Given the description of an element on the screen output the (x, y) to click on. 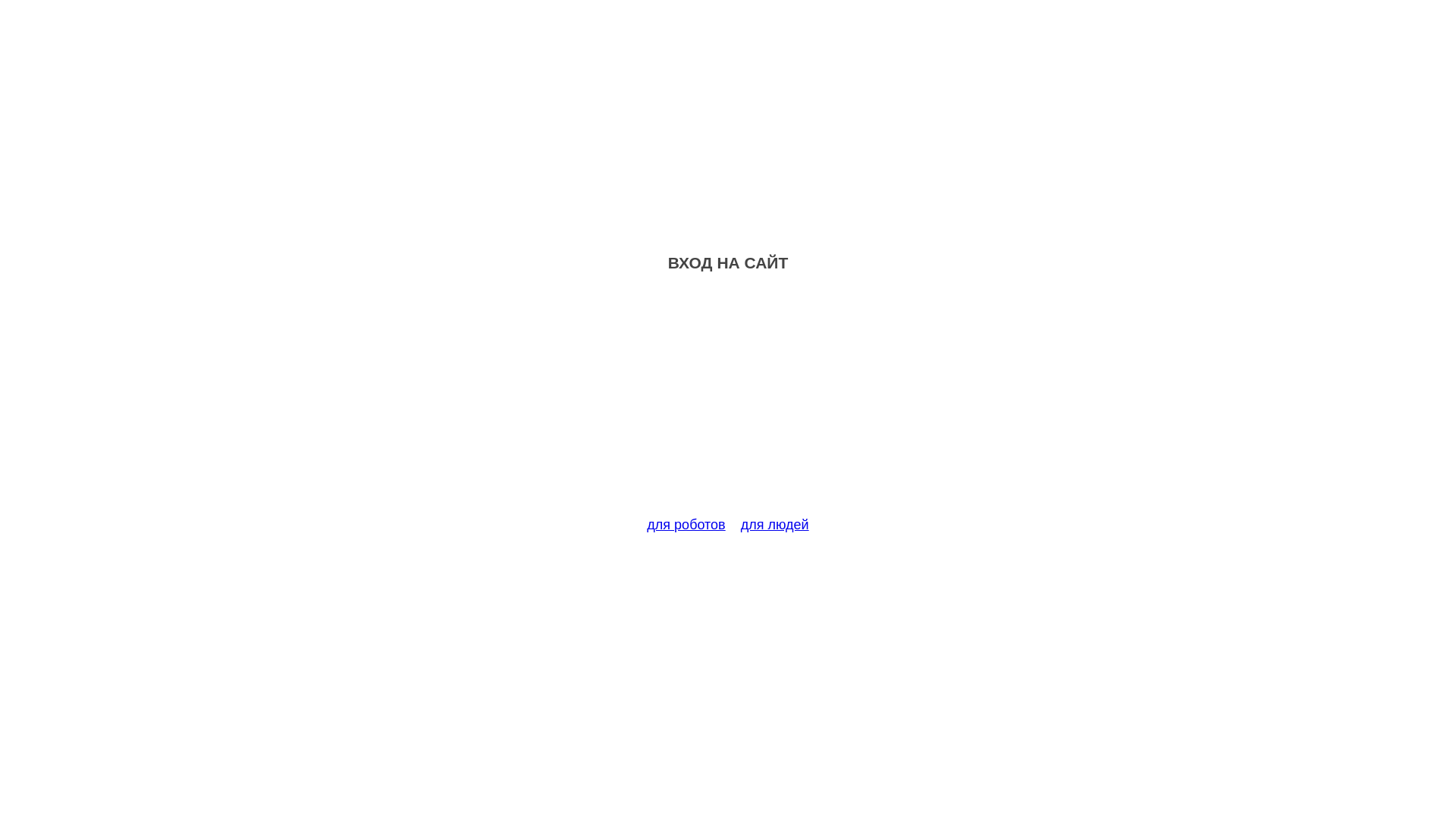
Advertisement Element type: hover (727, 403)
